Given the description of an element on the screen output the (x, y) to click on. 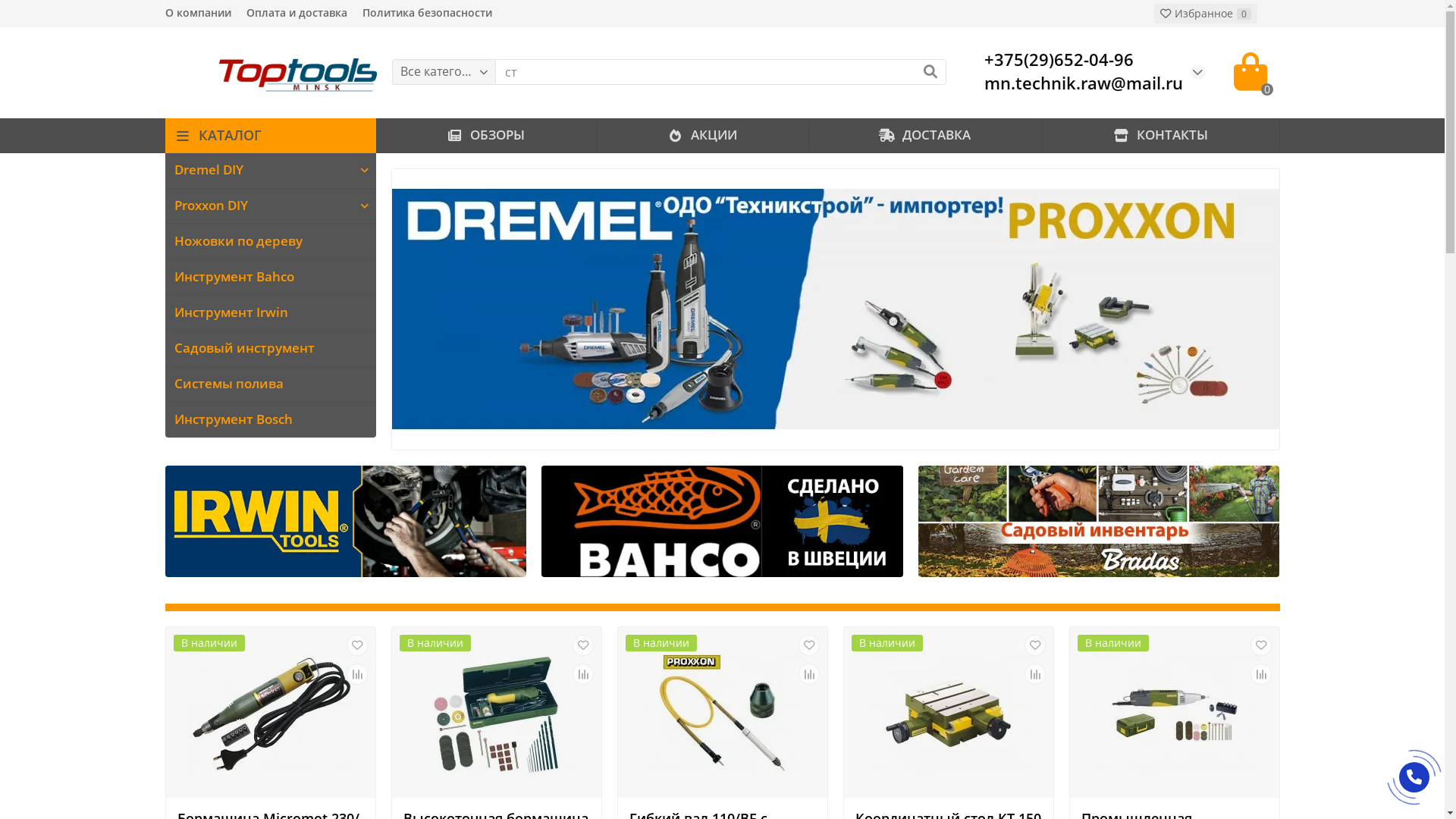
0 Element type: text (1249, 71)
Dremel DIY Element type: text (259, 170)
TopTools Element type: hover (270, 72)
razdelitel Element type: hover (722, 607)
Proxxon DIY Element type: text (259, 205)
